Given the description of an element on the screen output the (x, y) to click on. 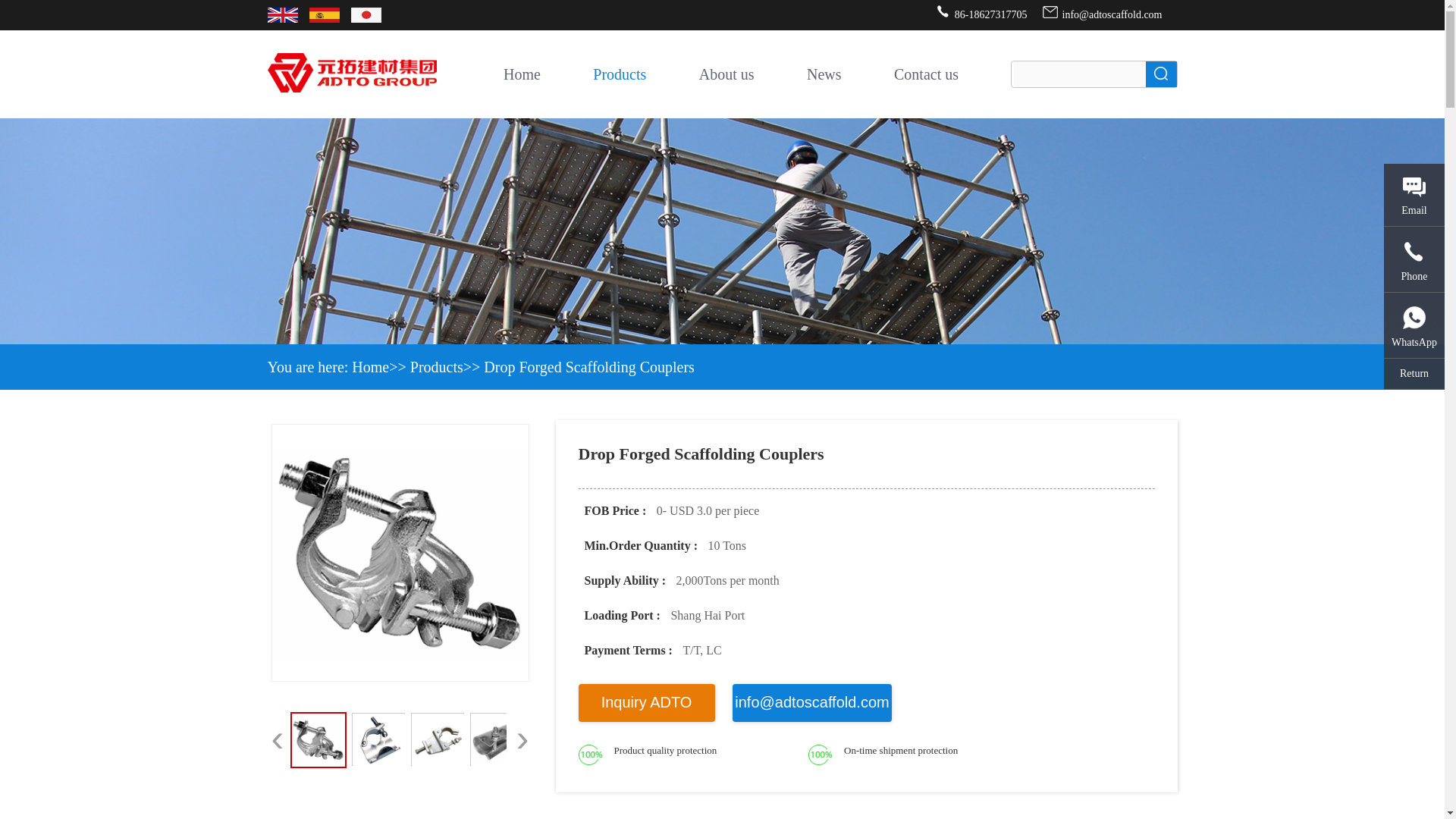
Home (521, 73)
News (823, 73)
About us (726, 73)
Products (619, 73)
Contact us (925, 73)
86-18627317705 (981, 15)
